Given the description of an element on the screen output the (x, y) to click on. 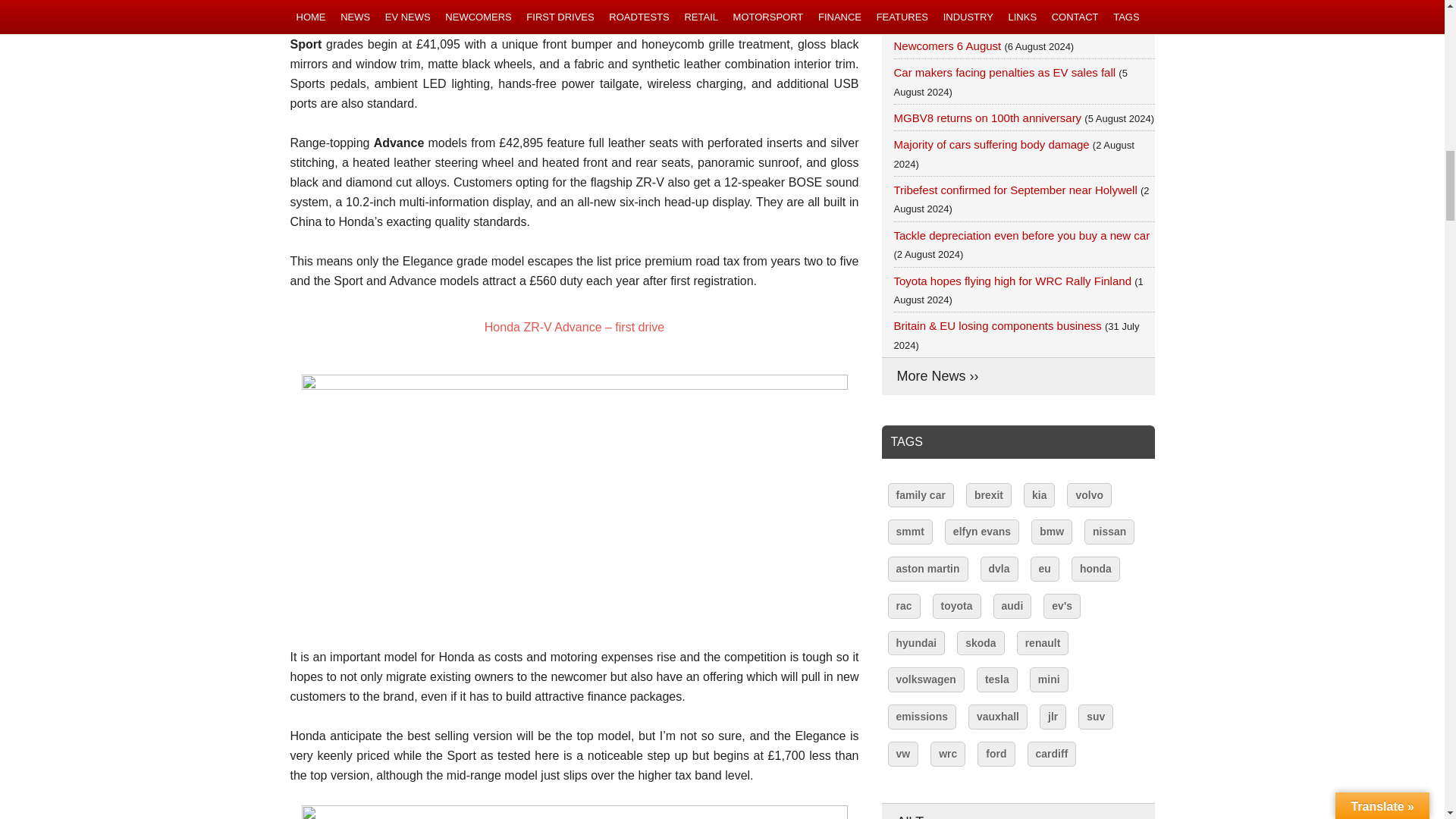
Permanent link to MGBV8 returns on 100th anniversary (987, 117)
Permanent link to Newcomers 6 August (947, 45)
Permanent link to Majority of cars suffering body damage (991, 144)
